Given the description of an element on the screen output the (x, y) to click on. 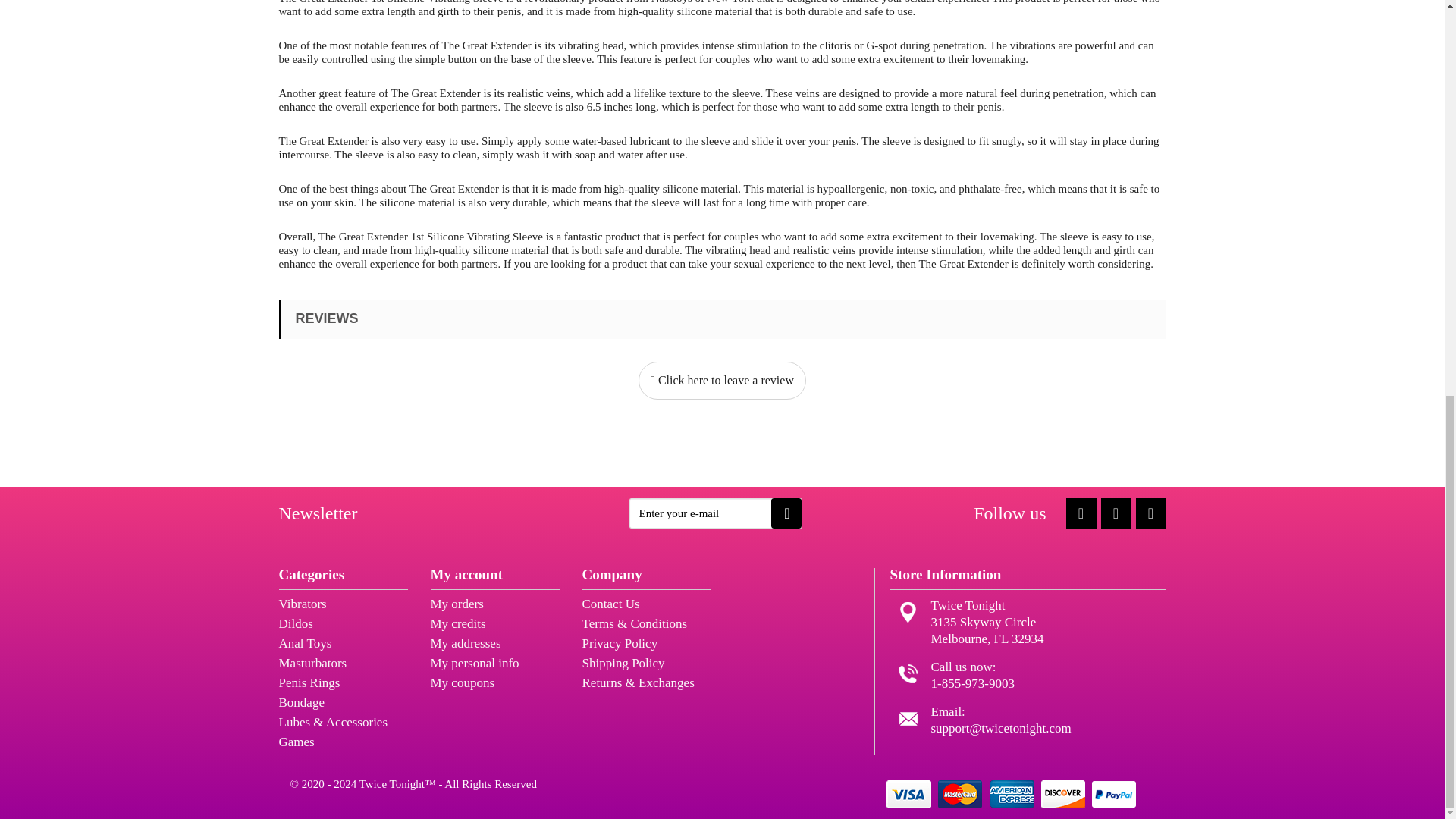
Enter your e-mail (715, 512)
